Given the description of an element on the screen output the (x, y) to click on. 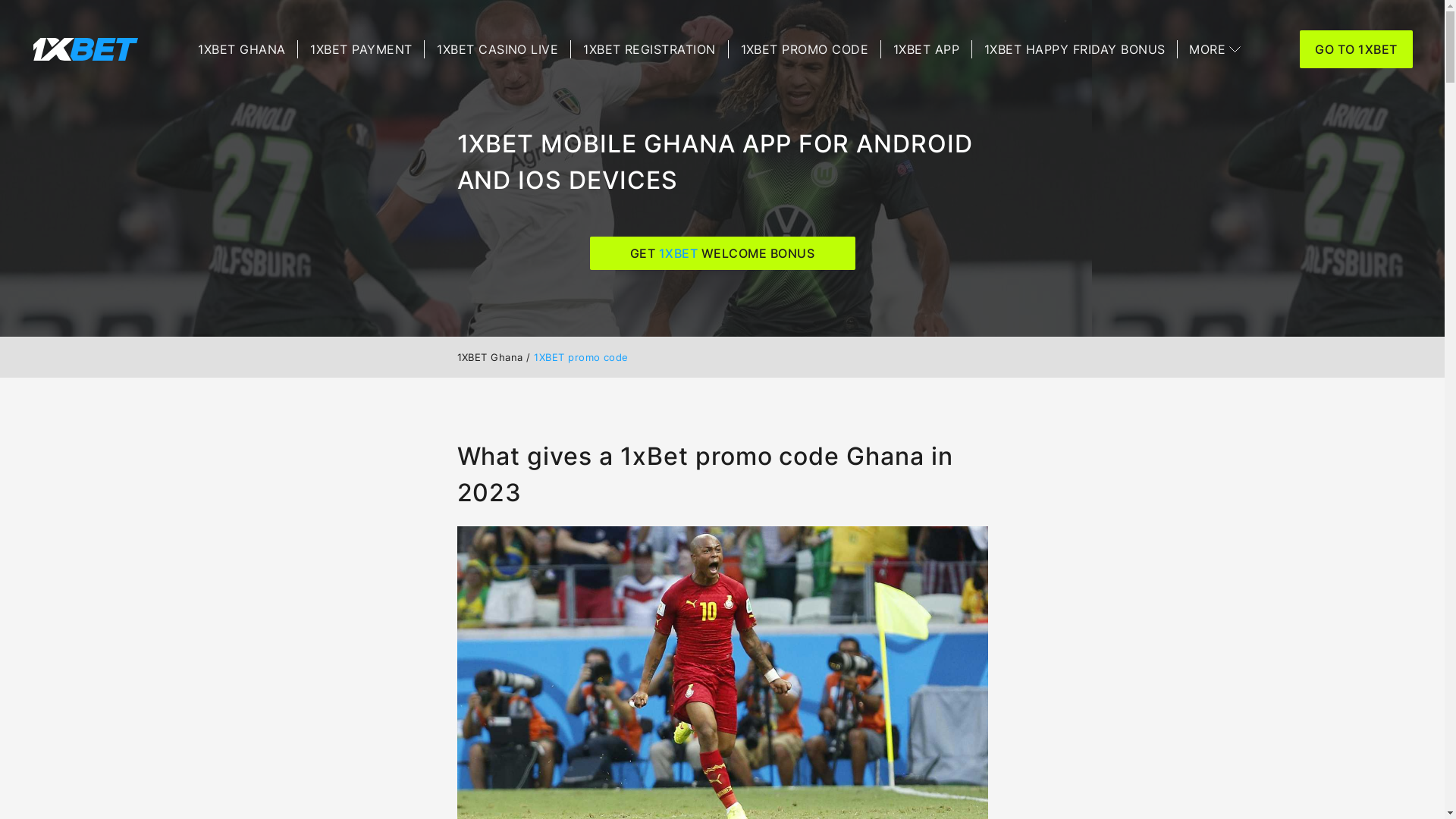
1XBET Ghana Element type: text (489, 357)
1XBET CASINO LIVE Element type: text (497, 49)
1XBET PAYMENT Element type: text (360, 49)
1XBET APP Element type: text (925, 49)
GET 1XBET WELCOME BONUS Element type: text (722, 252)
GO TO 1XBET Element type: text (1355, 49)
1XBET HAPPY FRIDAY BONUS Element type: text (1074, 49)
MORE Element type: text (1214, 49)
1XBET PROMO CODE Element type: text (804, 49)
1XBET GHANA Element type: text (241, 49)
1XBET REGISTRATION Element type: text (649, 49)
